Given the description of an element on the screen output the (x, y) to click on. 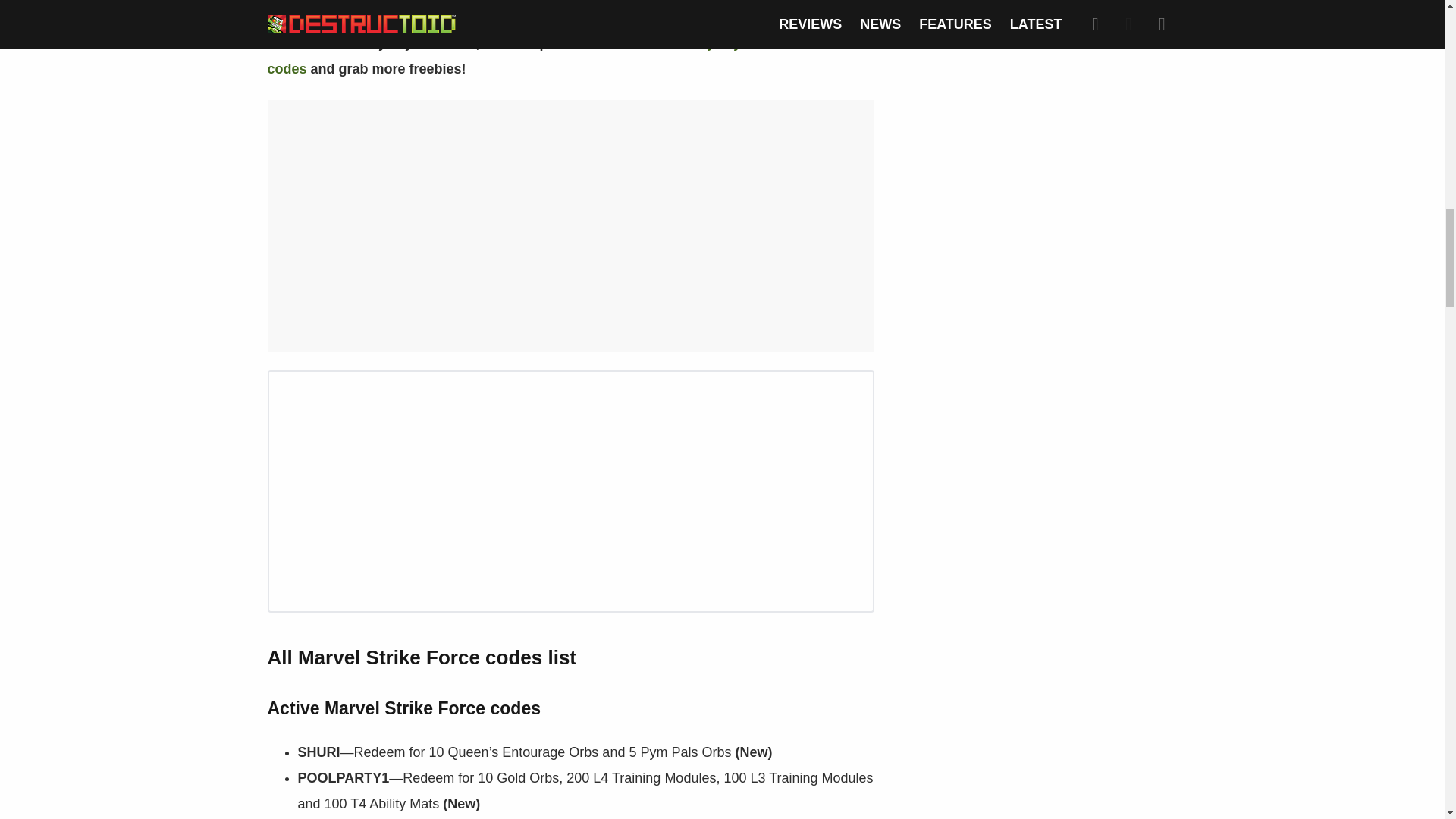
Devil May Cry: Peak of Combat codes (559, 56)
